Given the description of an element on the screen output the (x, y) to click on. 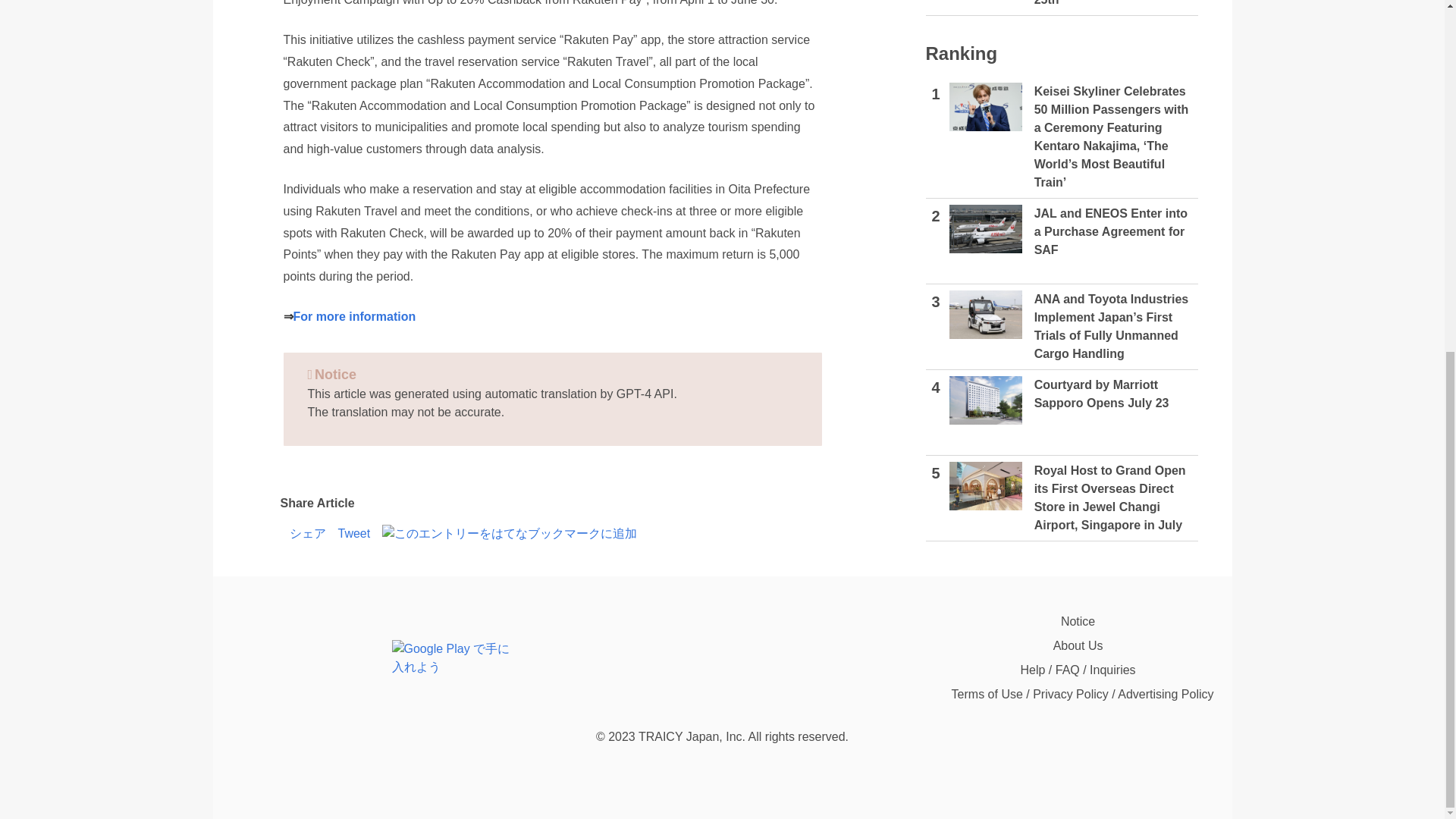
JAL and ENEOS Enter into a Purchase Agreement for SAF (985, 228)
Courtyard by Marriott Sapporo Opens July 23 (985, 400)
Tweet (354, 533)
For more information (353, 316)
